Given the description of an element on the screen output the (x, y) to click on. 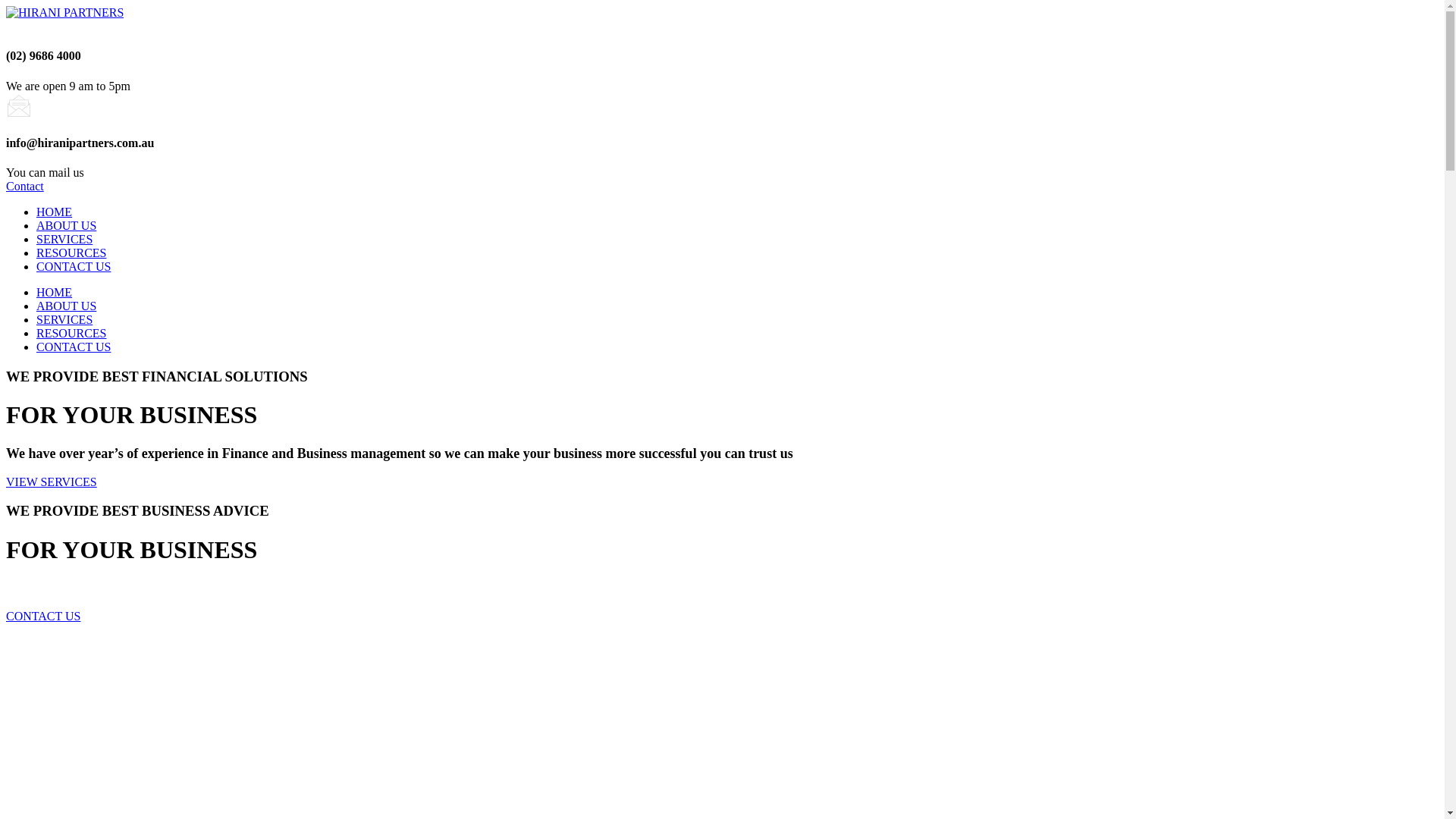
CONTACT US Element type: text (73, 346)
SERVICES Element type: text (64, 319)
VIEW SERVICES Element type: text (51, 481)
HOME Element type: text (54, 291)
ABOUT US Element type: text (66, 305)
Contact Element type: text (24, 185)
CONTACT US Element type: text (43, 615)
HOME Element type: text (54, 211)
CONTACT US Element type: text (73, 266)
RESOURCES Element type: text (71, 332)
SERVICES Element type: text (64, 238)
ABOUT US Element type: text (66, 225)
RESOURCES Element type: text (71, 252)
